Given the description of an element on the screen output the (x, y) to click on. 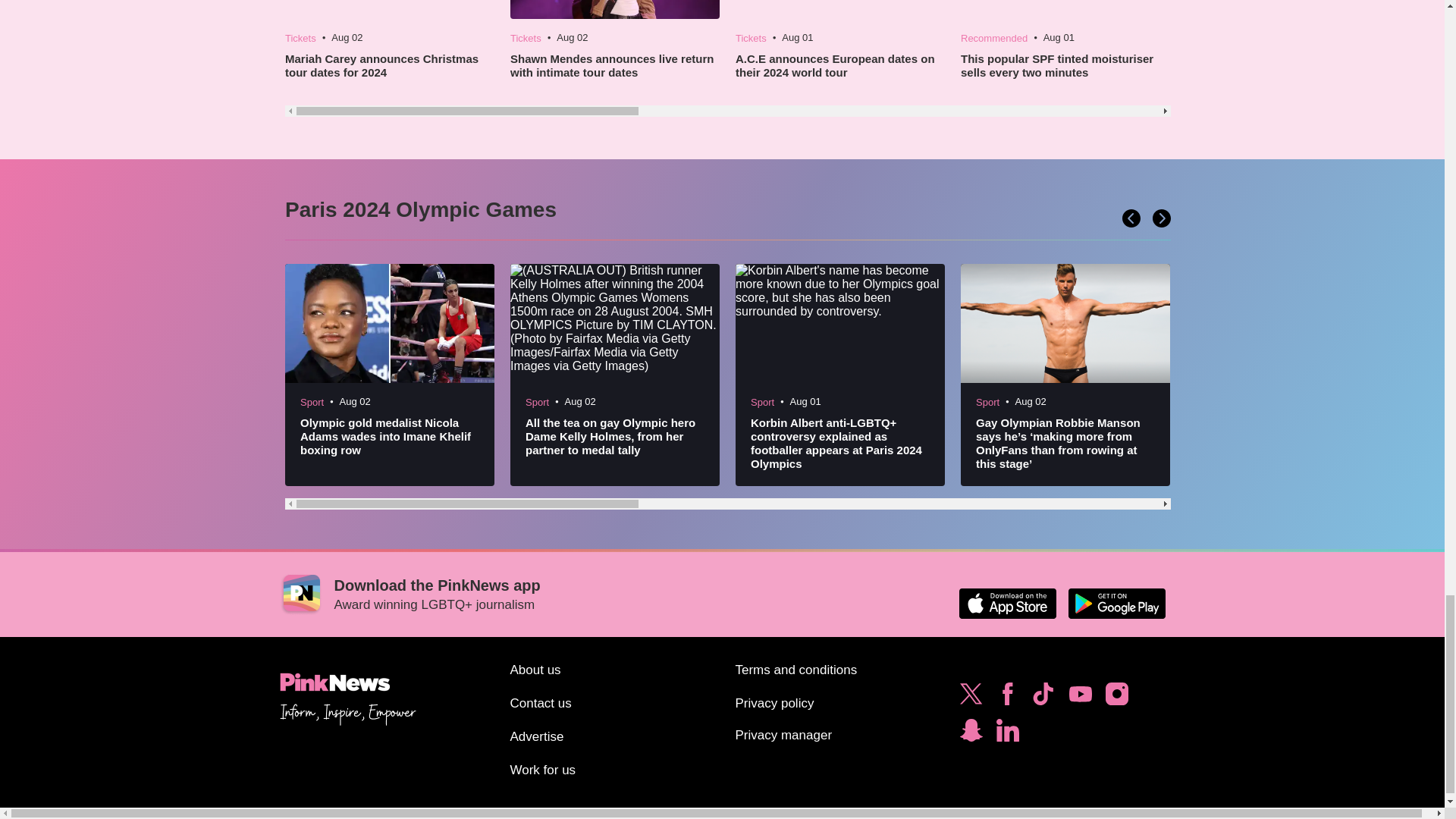
Download the PinkNews app on Google Play (1115, 603)
Follow PinkNews on Twitter (970, 697)
Download the PinkNews app on the Apple App Store (1006, 603)
Follow PinkNews on LinkedIn (1007, 733)
Subscribe to PinkNews on YouTube (1079, 697)
Subscribe to PinkNews on Snapchat (970, 733)
Follow PinkNews on TikTok (1042, 697)
Follow PinkNews on Instagram (1116, 697)
